Given the description of an element on the screen output the (x, y) to click on. 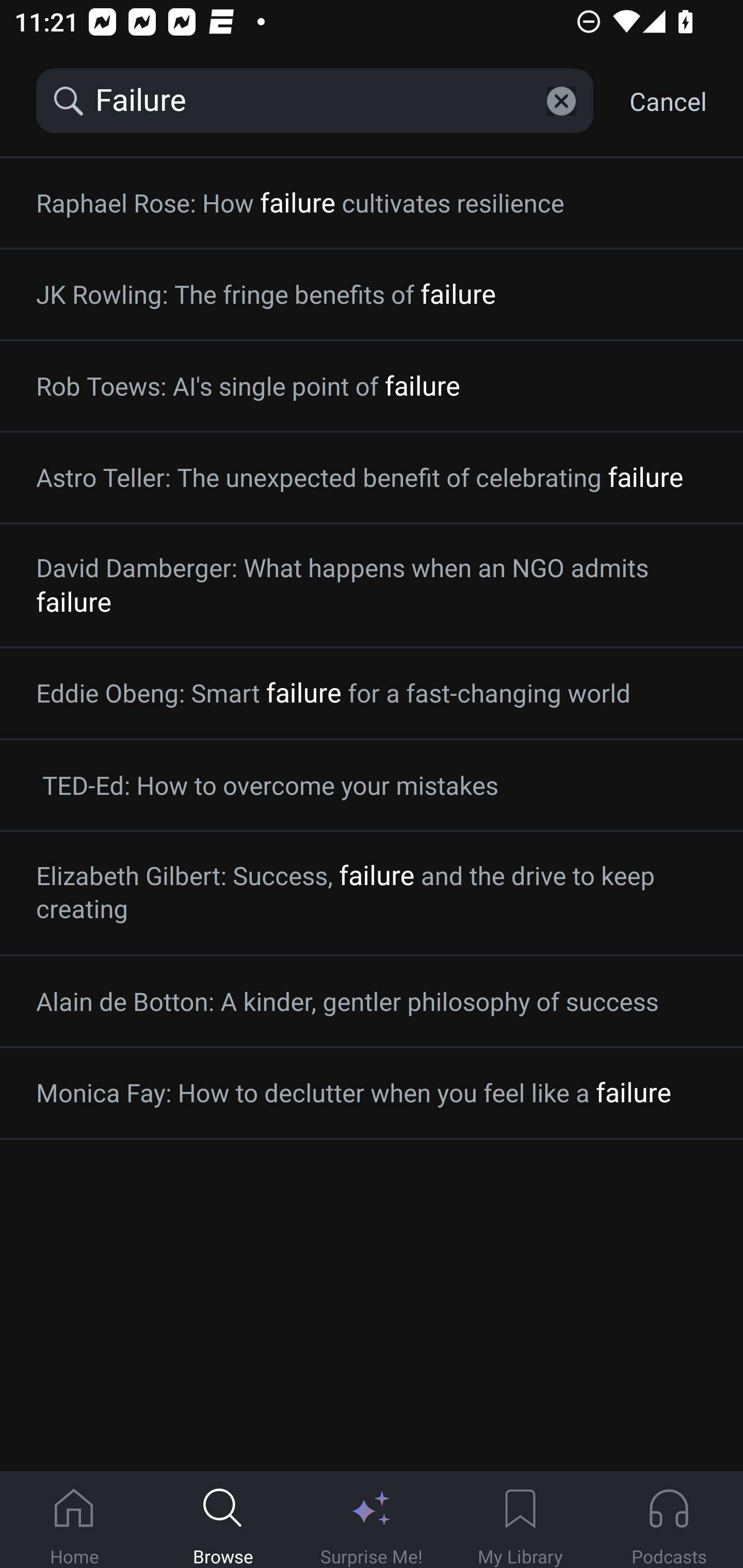
Failure (314, 100)
Cancel (667, 100)
Raphael Rose: How failure cultivates resilience (371, 202)
JK Rowling: The fringe benefits of failure (371, 293)
Rob Toews: AI's single point of failure (371, 386)
 TED-Ed: How to overcome your mistakes (371, 785)
Home (74, 1520)
Browse (222, 1520)
Surprise Me! (371, 1520)
My Library (519, 1520)
Podcasts (668, 1520)
